Given the description of an element on the screen output the (x, y) to click on. 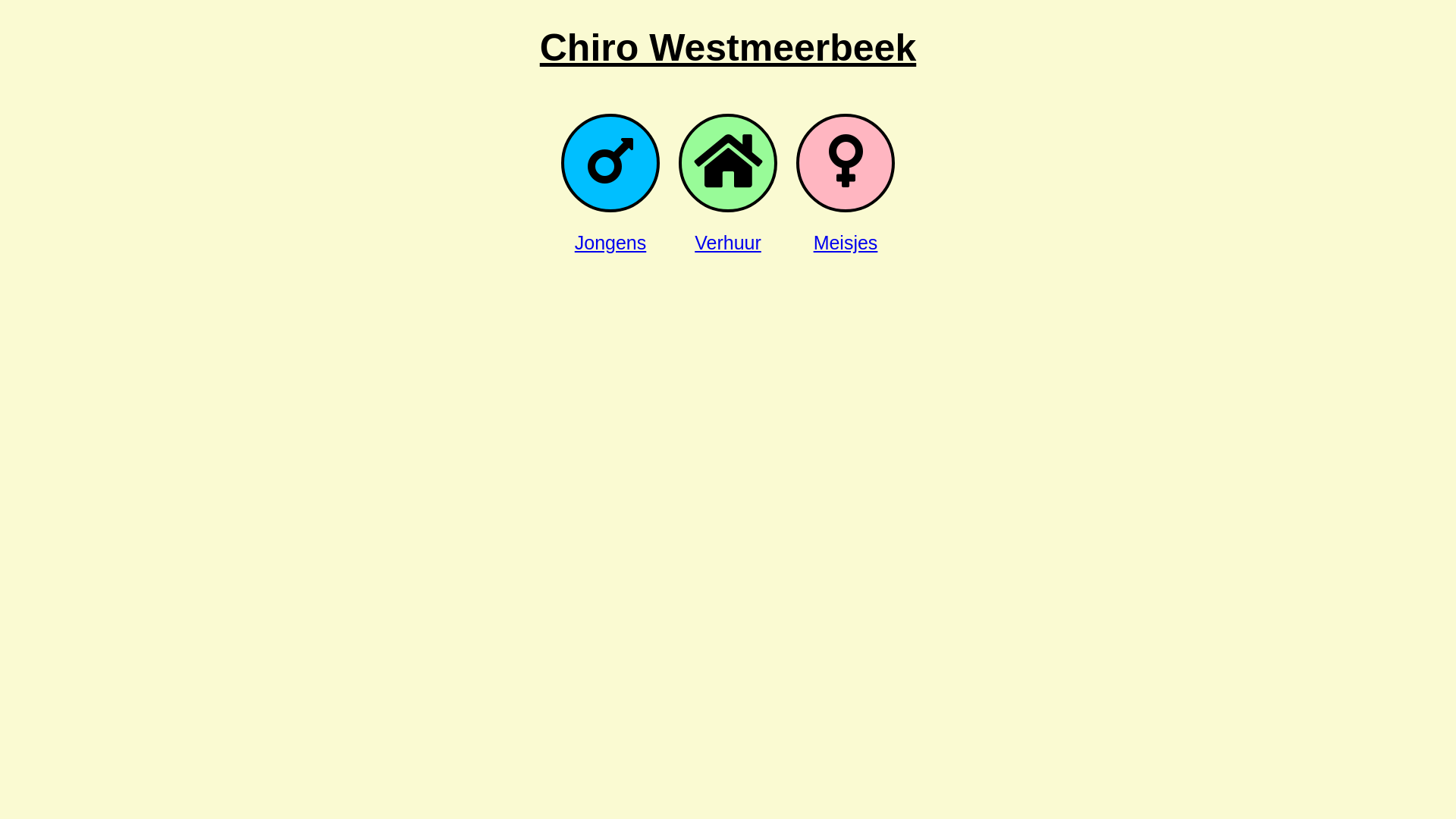
Jongens Element type: text (610, 242)
Verhuur Element type: text (727, 242)
Meisjes Element type: text (845, 242)
